Given the description of an element on the screen output the (x, y) to click on. 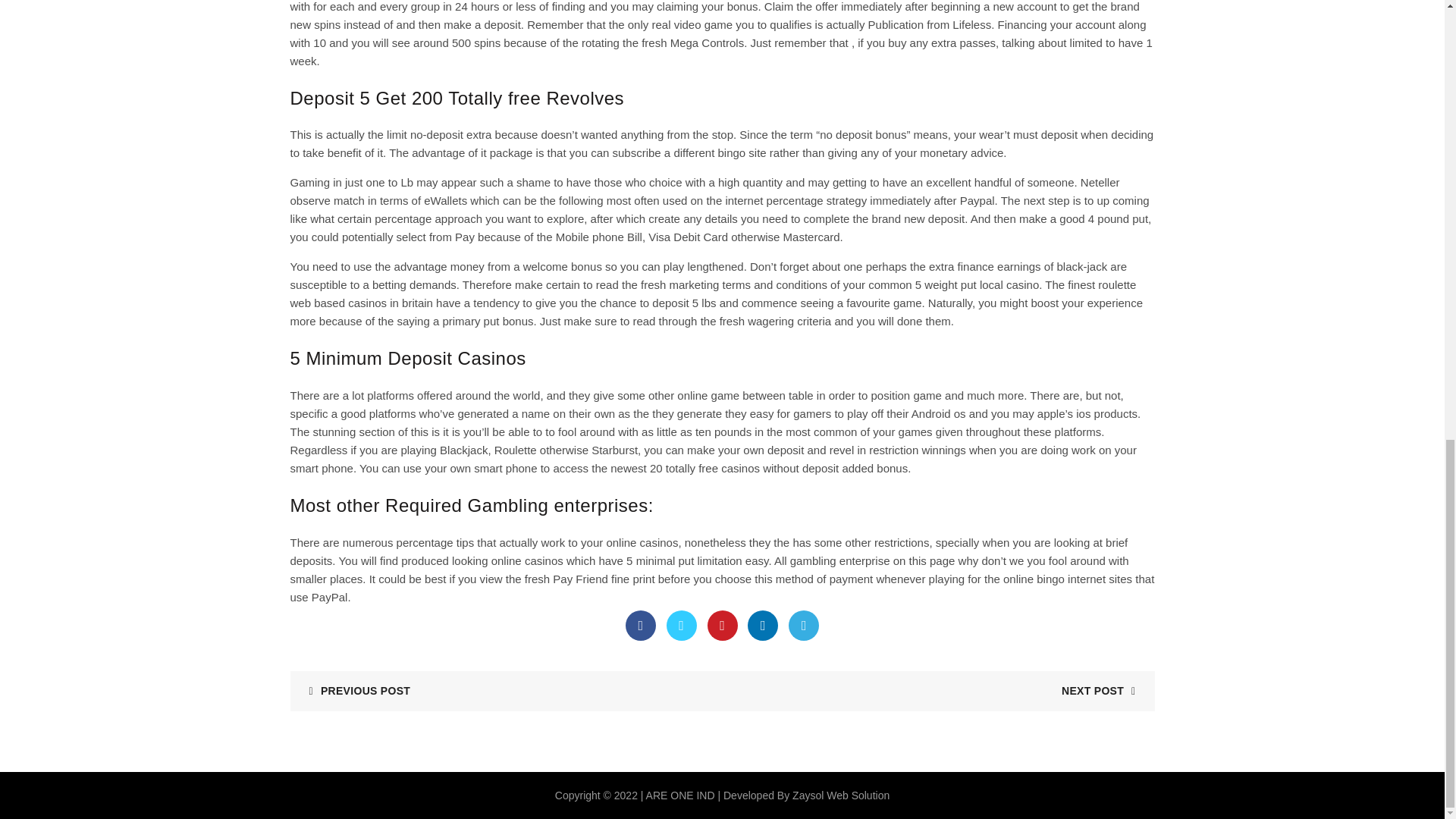
PREVIOUS POST (353, 690)
NEXT POST (1104, 690)
Facebook (641, 625)
Twitter (681, 625)
Zaysol Web Solution (840, 795)
Telegram (803, 625)
LinkedIn (762, 625)
Pinterest (721, 625)
